Given the description of an element on the screen output the (x, y) to click on. 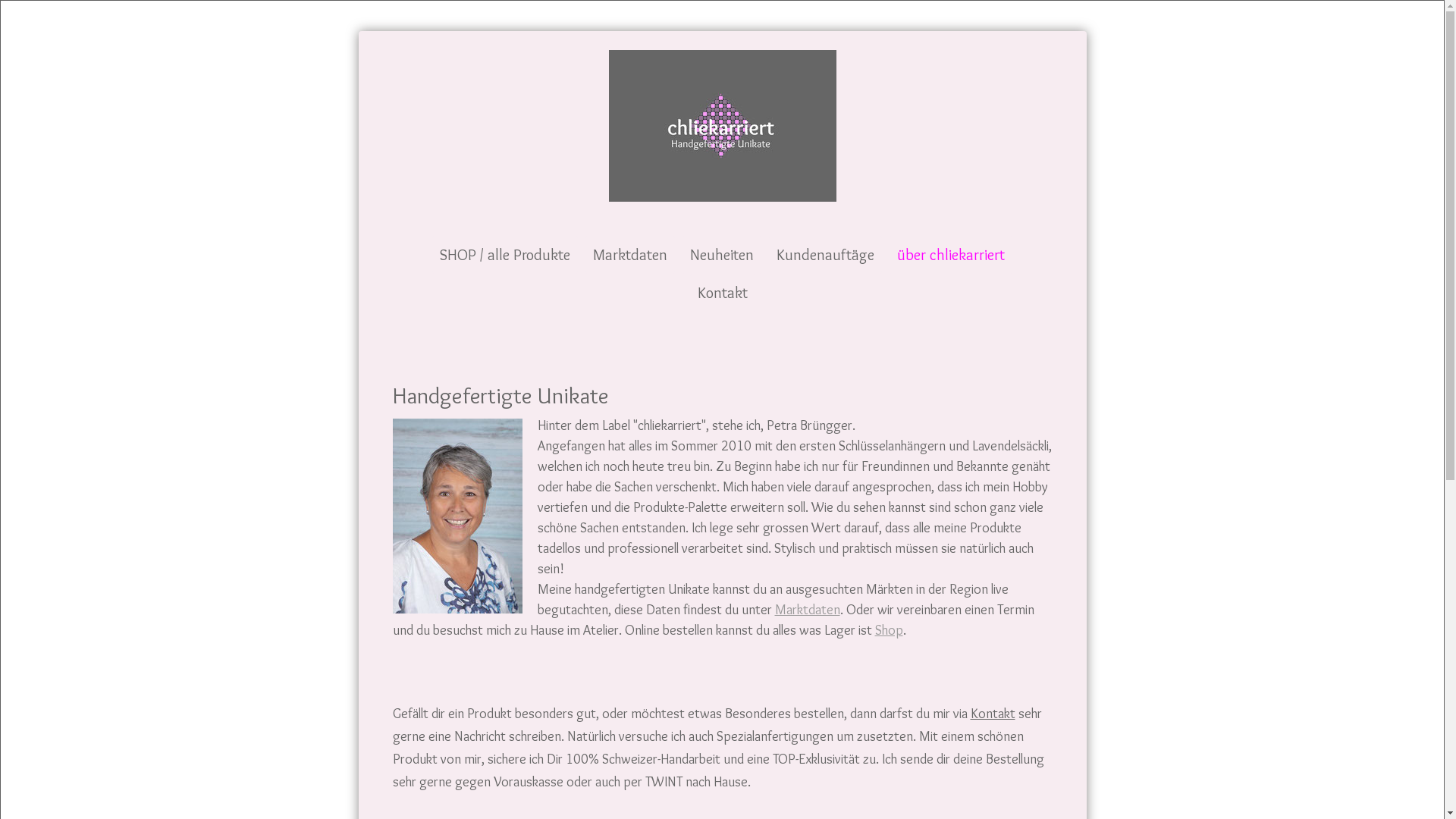
Marktdaten Element type: text (807, 608)
Shop Element type: text (889, 629)
SHOP / alle Produkte Element type: text (504, 254)
Kontakt Element type: text (722, 292)
Marktdaten Element type: text (629, 254)
Neuheiten Element type: text (721, 254)
Kontakt Element type: text (992, 713)
